Given the description of an element on the screen output the (x, y) to click on. 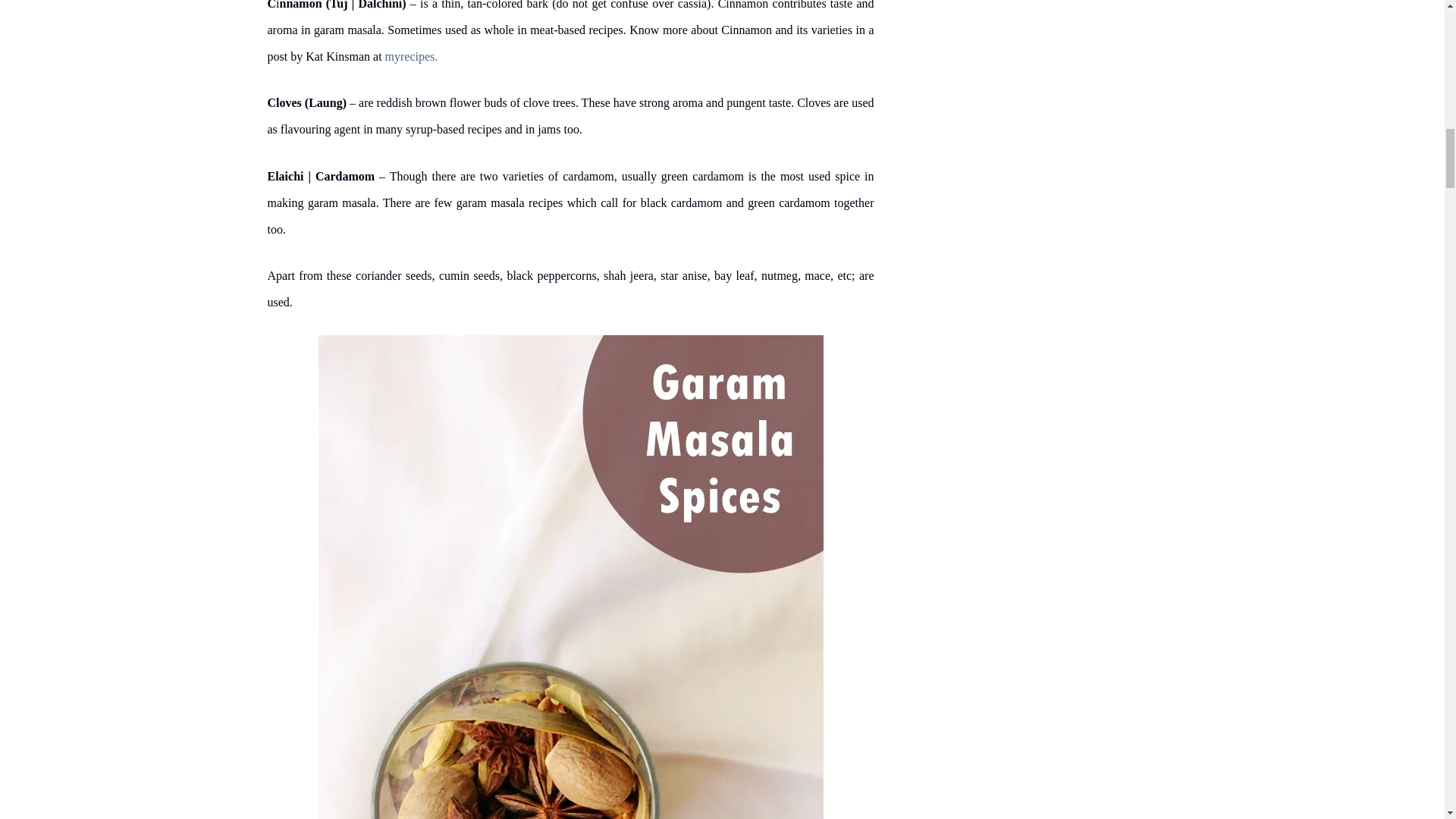
myrecipes. (411, 56)
